Given the description of an element on the screen output the (x, y) to click on. 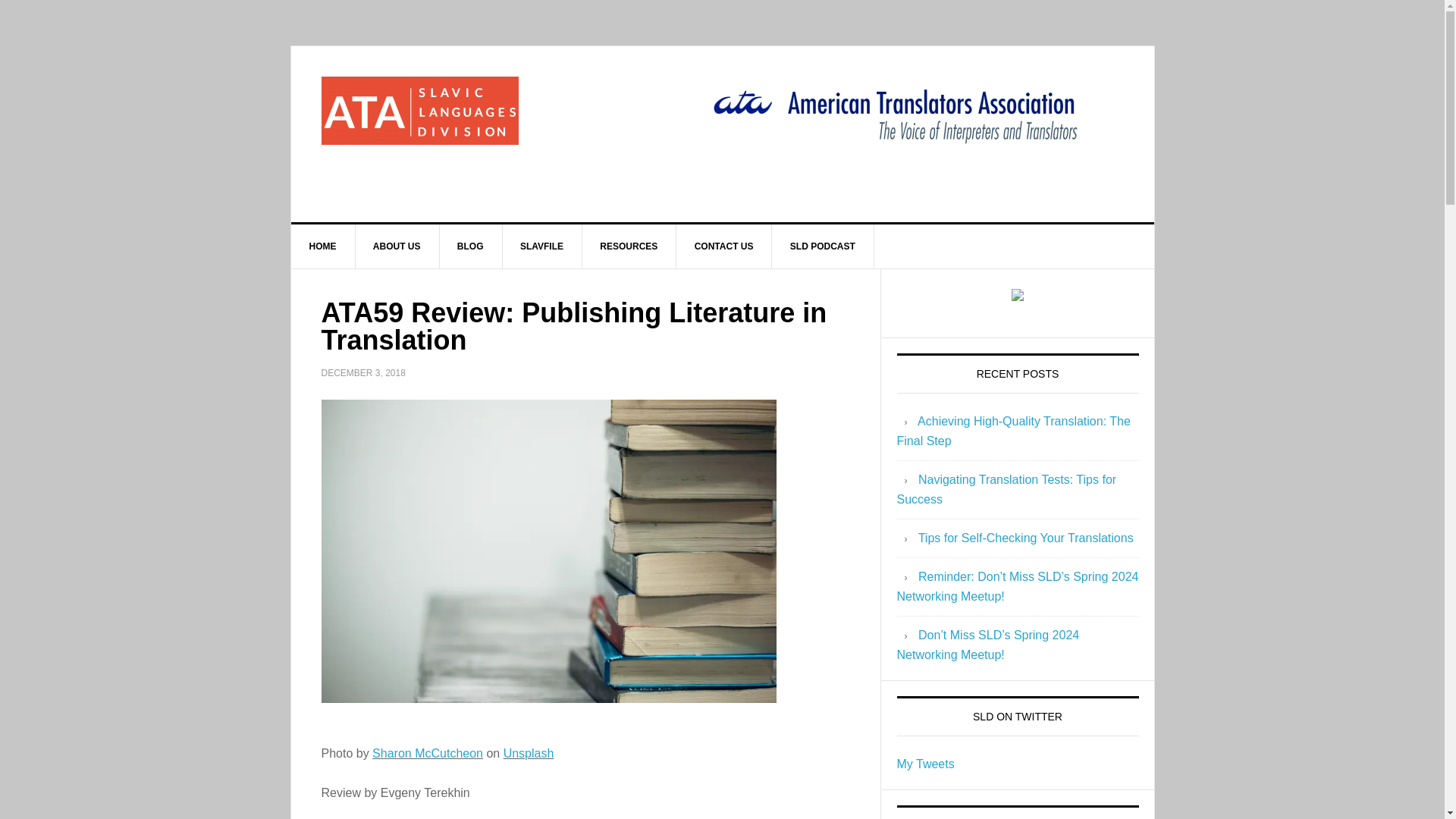
My Tweets (924, 763)
Achieving High-Quality Translation: The Final Step (1012, 430)
ABOUT US (397, 246)
SLAVFILE (542, 246)
RESOURCES (628, 246)
ATA SLD (419, 110)
HOME (323, 246)
Unsplash (528, 752)
BLOG (470, 246)
Sharon McCutcheon (427, 752)
CONTACT US (725, 246)
SLD PODCAST (823, 246)
Navigating Translation Tests: Tips for Success (1006, 489)
Tips for Self-Checking Your Translations (1026, 537)
